Given the description of an element on the screen output the (x, y) to click on. 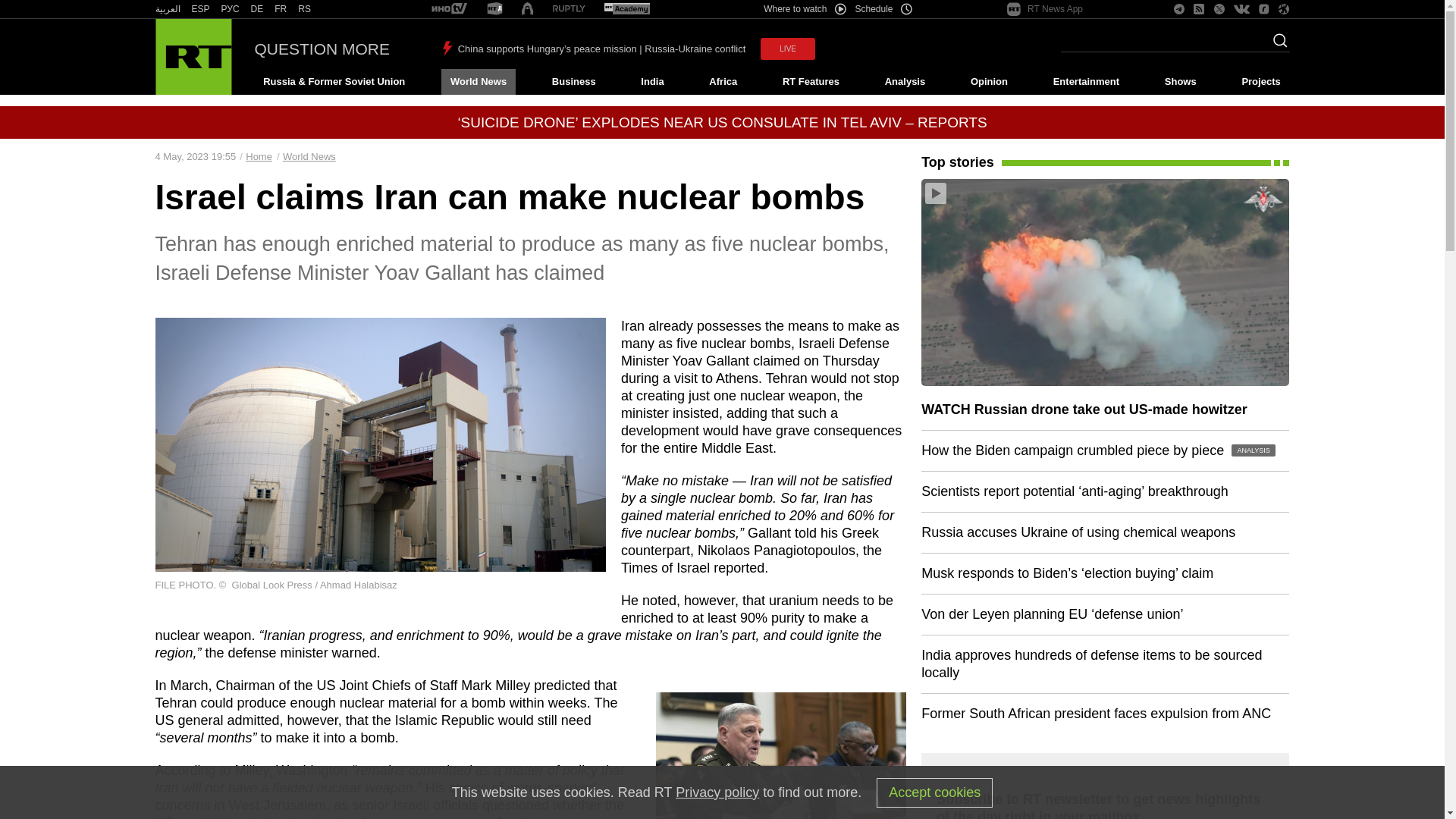
RT  (448, 9)
Search (1276, 44)
DE (256, 9)
India (651, 81)
Analysis (905, 81)
RT  (494, 9)
RT  (304, 9)
Projects (1261, 81)
RT Features (810, 81)
RT  (569, 8)
Where to watch (803, 9)
Schedule (884, 9)
RT  (626, 9)
RS (304, 9)
RT  (230, 9)
